Given the description of an element on the screen output the (x, y) to click on. 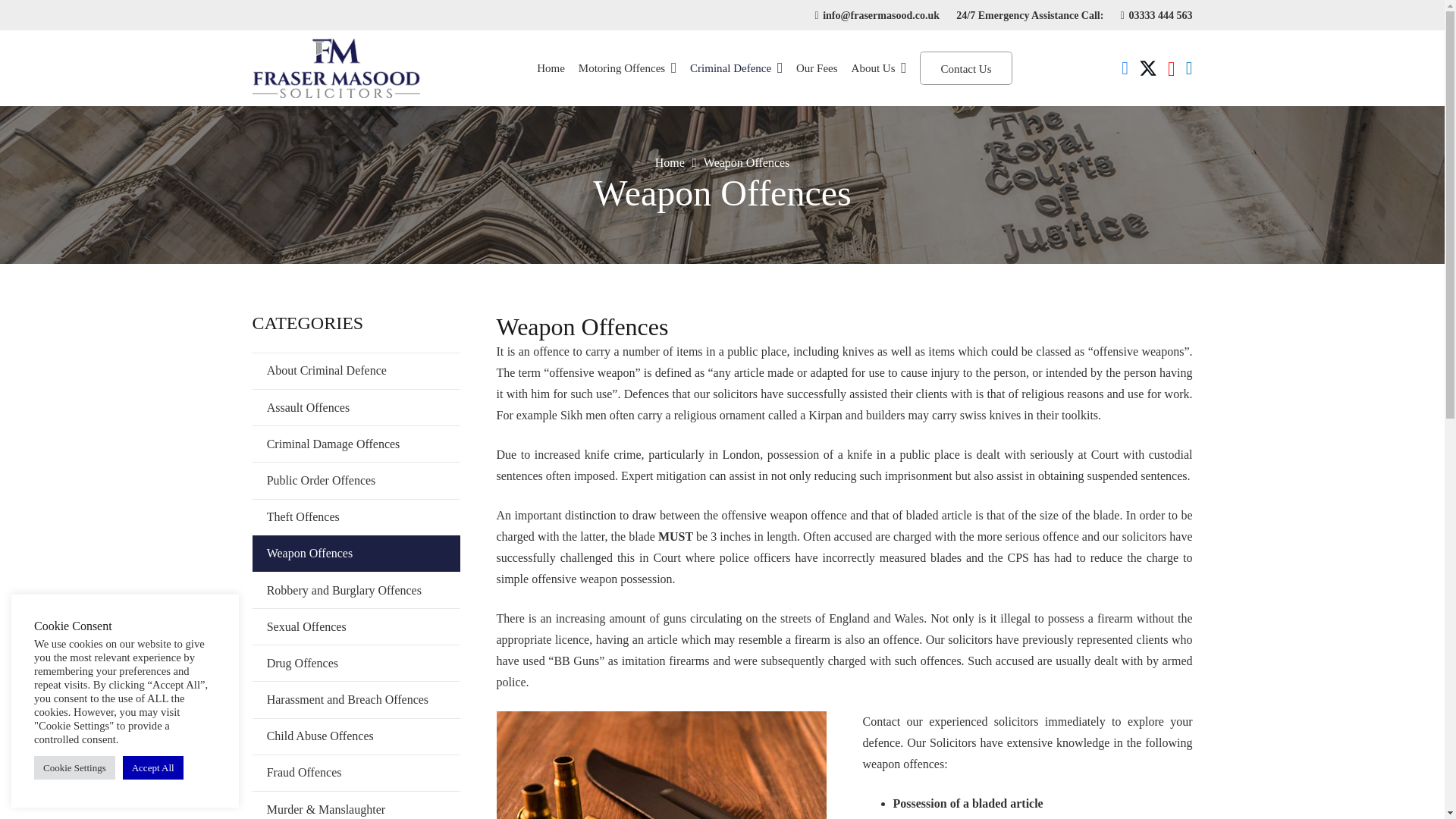
Contact Us (965, 68)
About Us (879, 68)
Criminal Defence (735, 68)
Motoring Offences (627, 68)
Twitter (1147, 68)
03333 444 563 (1156, 14)
